Given the description of an element on the screen output the (x, y) to click on. 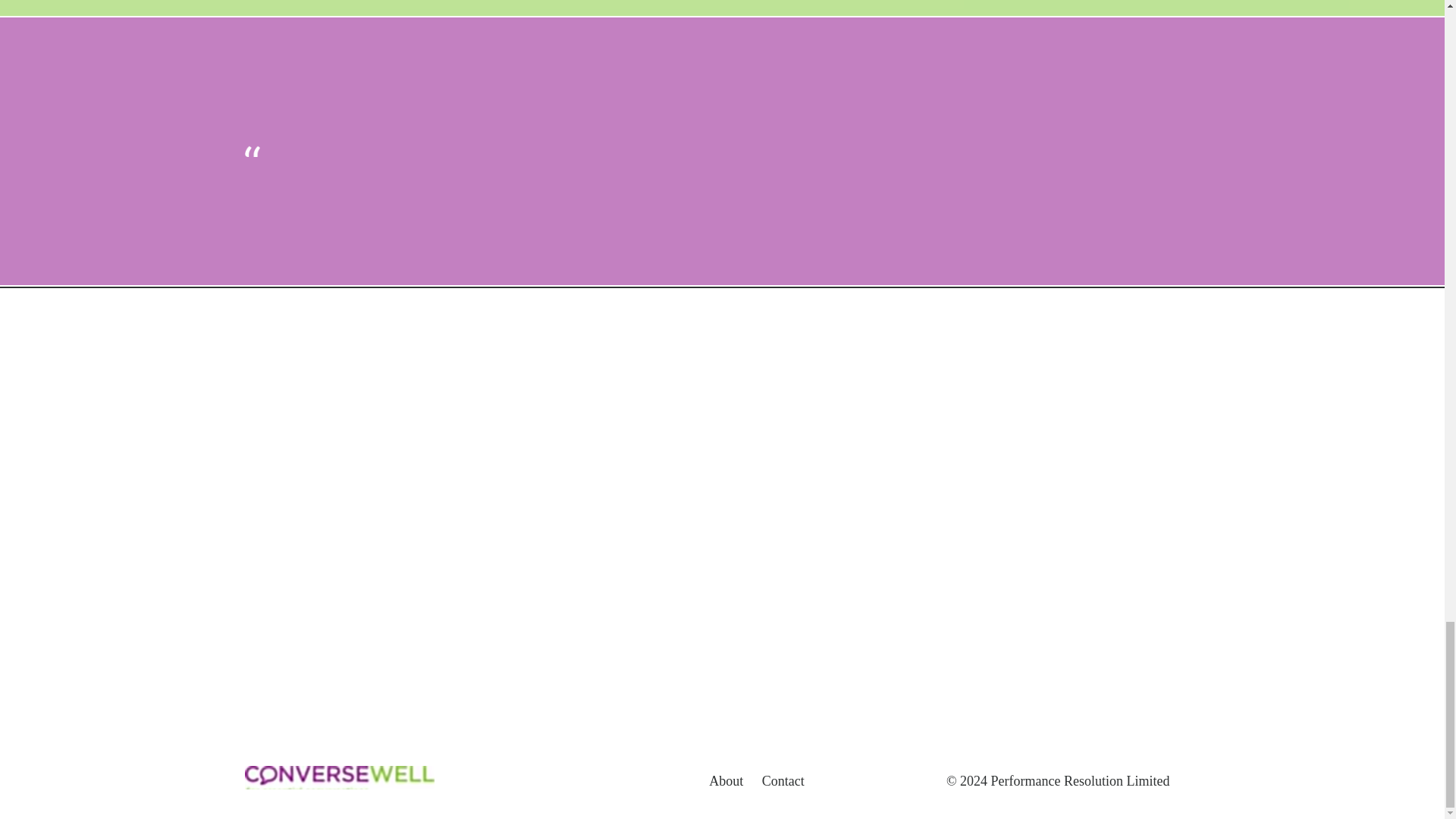
About (725, 780)
Contact (783, 780)
